Given the description of an element on the screen output the (x, y) to click on. 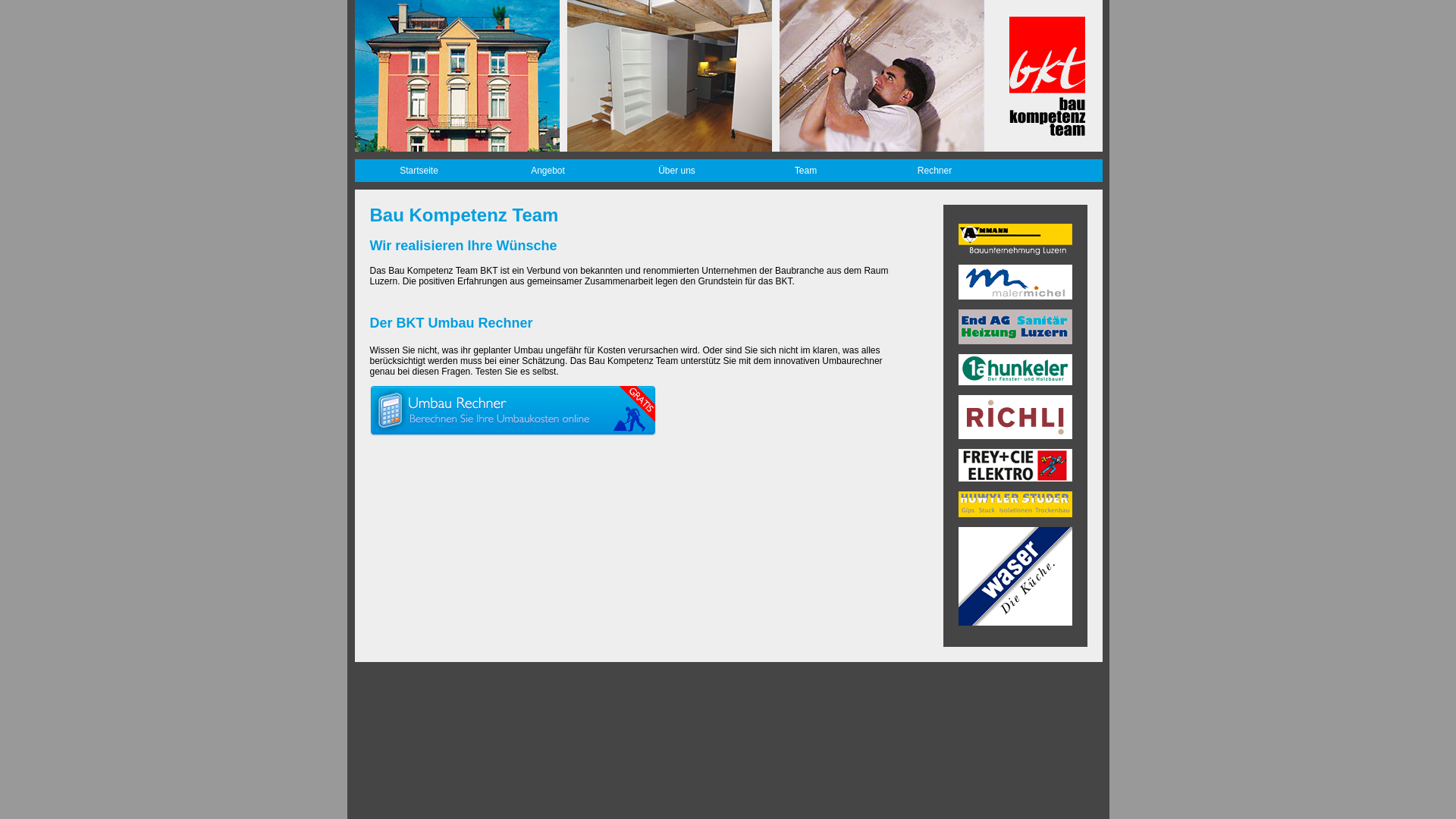
Team Element type: text (805, 170)
Startseite Element type: text (418, 170)
Rechner Element type: text (934, 170)
Angebot Element type: text (547, 170)
